Given the description of an element on the screen output the (x, y) to click on. 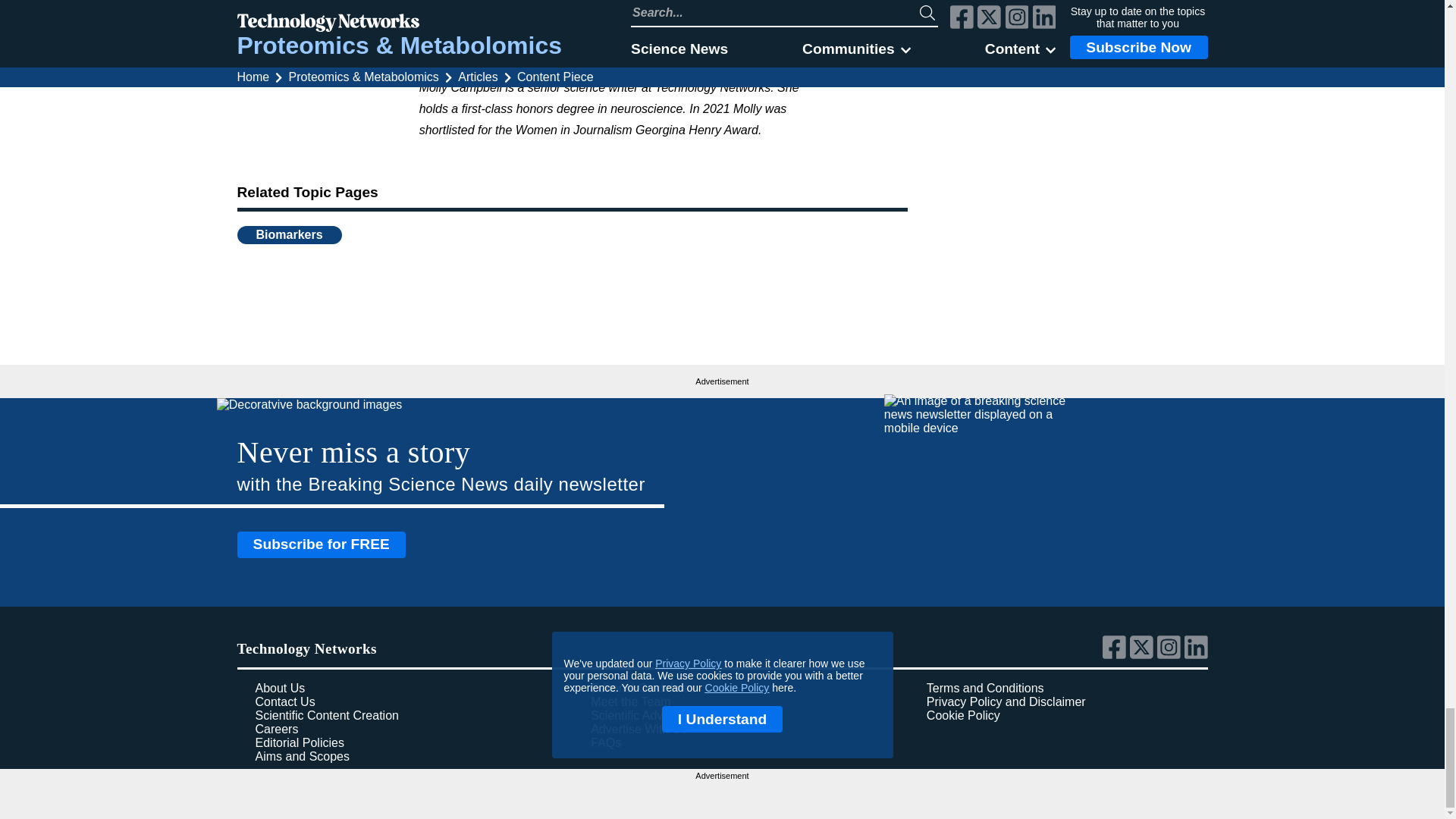
Link to Technology Networks' facebook page (1115, 655)
Link to Technology Networks' instagram page (1171, 655)
Link to Technology Networks' linkedin page (1196, 655)
Link to Technology Networks' twitter page (1143, 655)
